Given the description of an element on the screen output the (x, y) to click on. 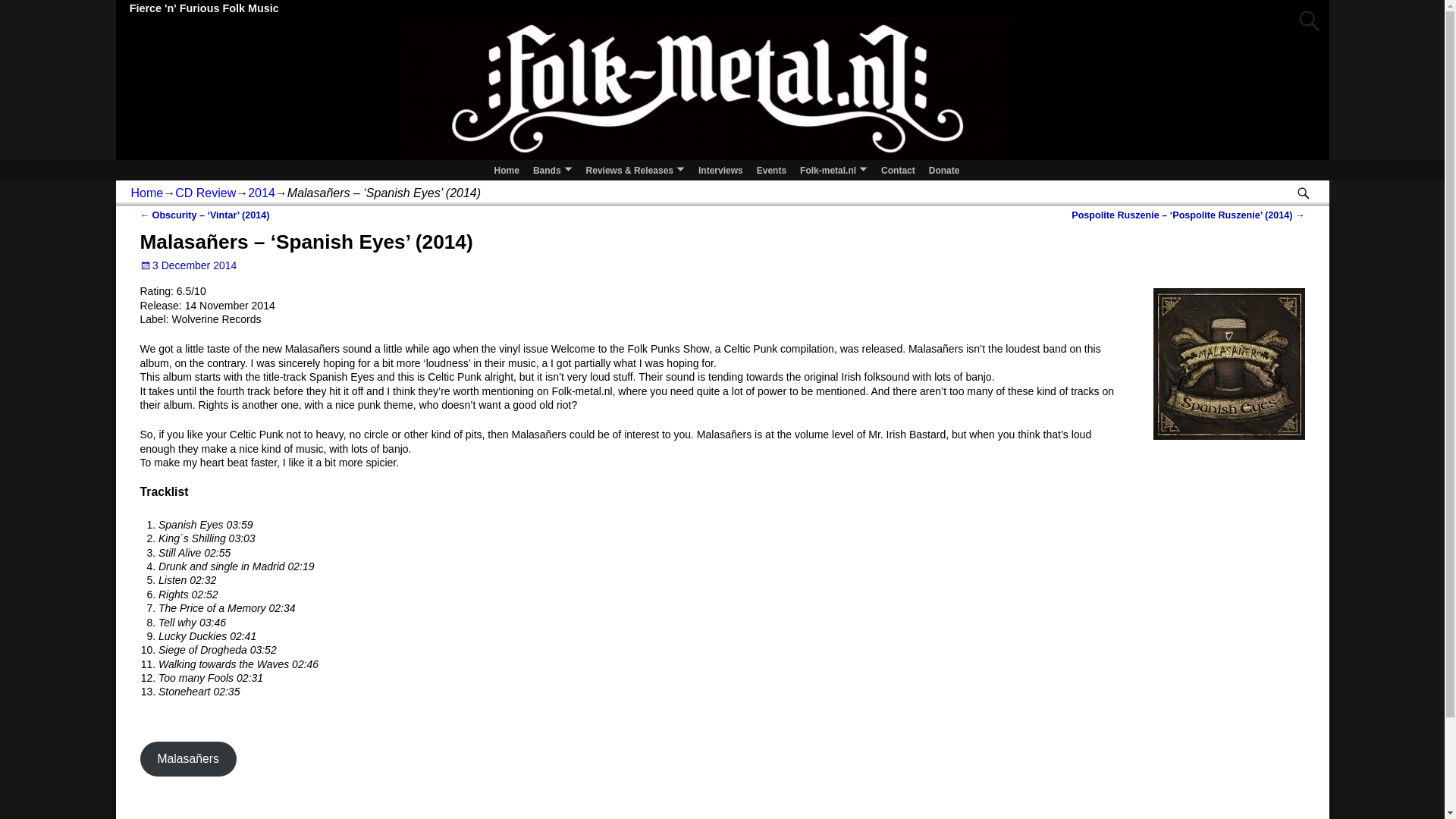
Support Us (943, 169)
20:25 (187, 265)
Bands (552, 169)
Home (506, 169)
